Given the description of an element on the screen output the (x, y) to click on. 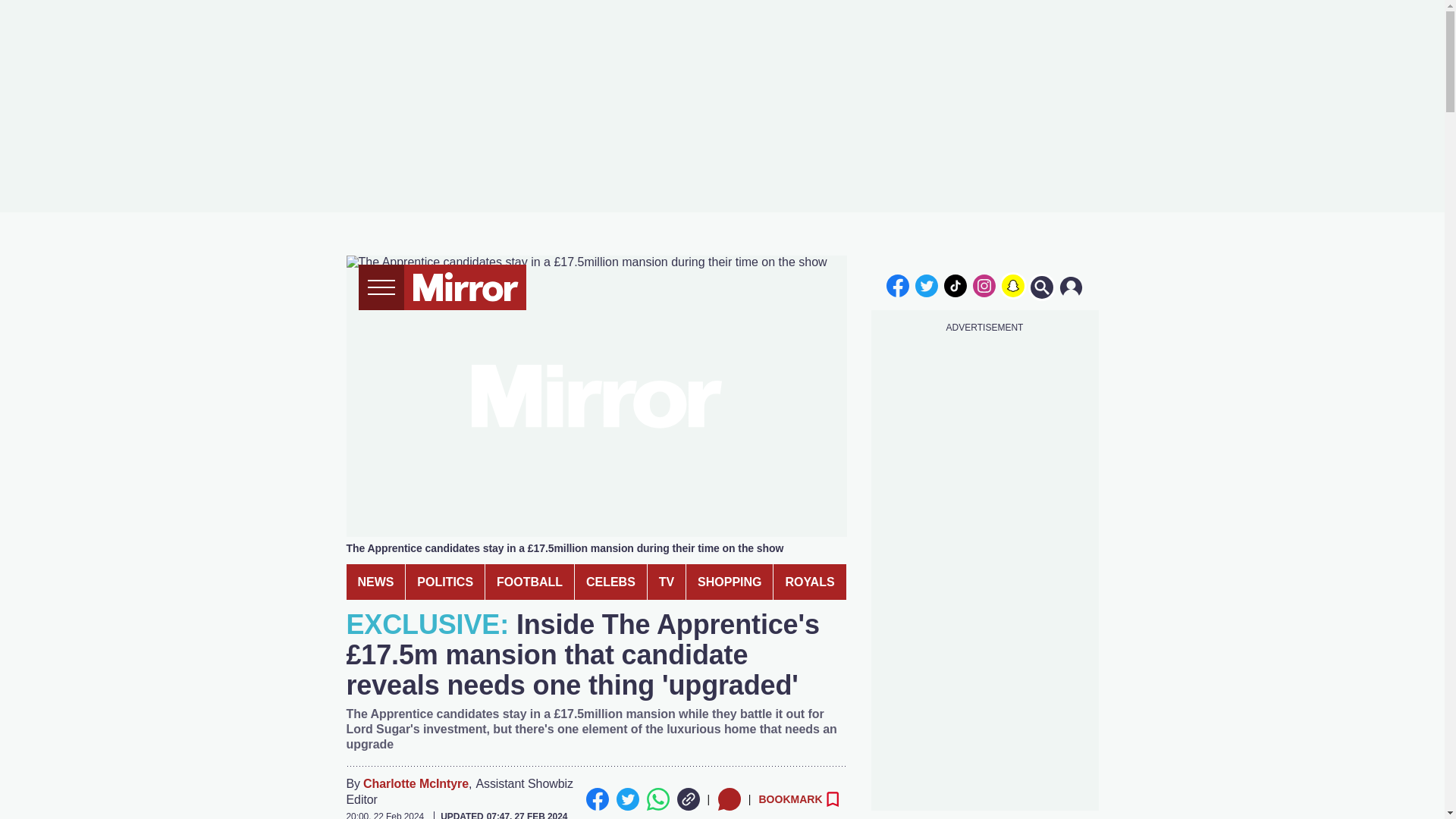
snapchat (1012, 285)
FOOTBALL (528, 581)
Facebook (596, 798)
POLITICS (445, 581)
facebook (897, 285)
tiktok (955, 285)
CELEBS (610, 581)
Twitter (627, 798)
twitter (926, 285)
NEWS (375, 581)
